Given the description of an element on the screen output the (x, y) to click on. 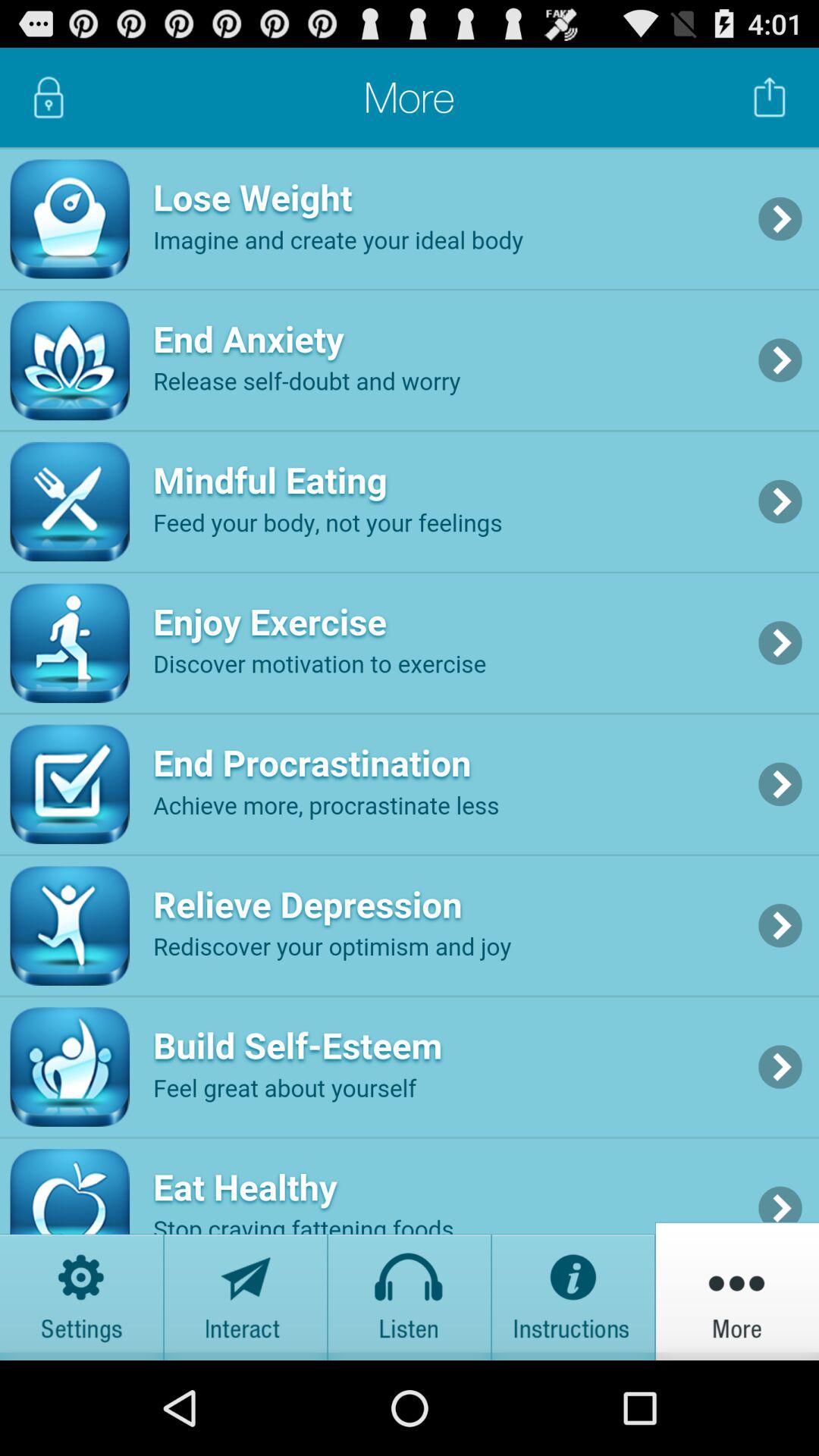
instructon tabs (573, 1290)
